Given the description of an element on the screen output the (x, y) to click on. 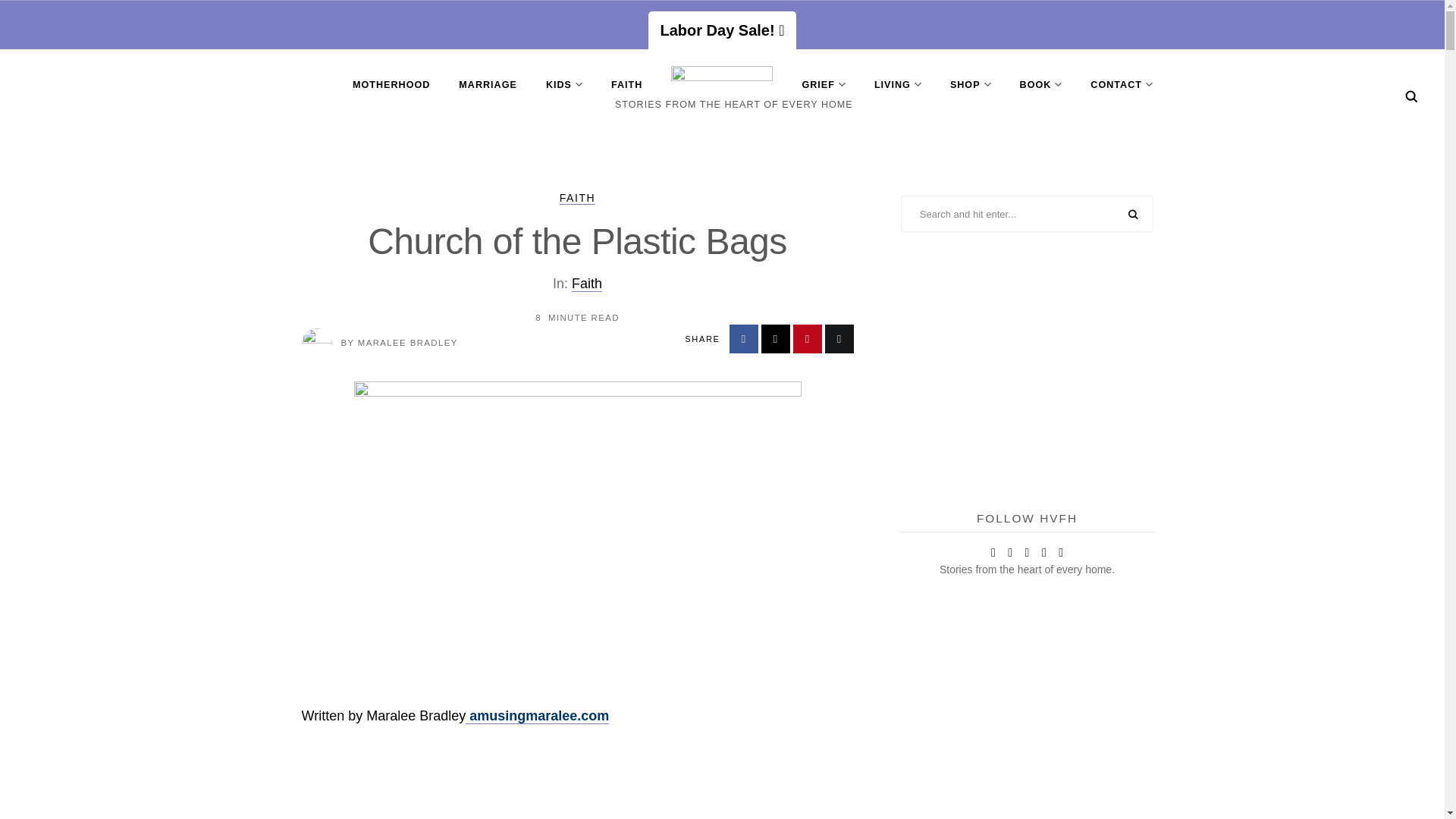
Share by Email (839, 338)
Search (1411, 96)
SEARCH (1133, 214)
Share on X (775, 338)
Share on Facebook (743, 338)
Share on Pinterest (807, 338)
